Given the description of an element on the screen output the (x, y) to click on. 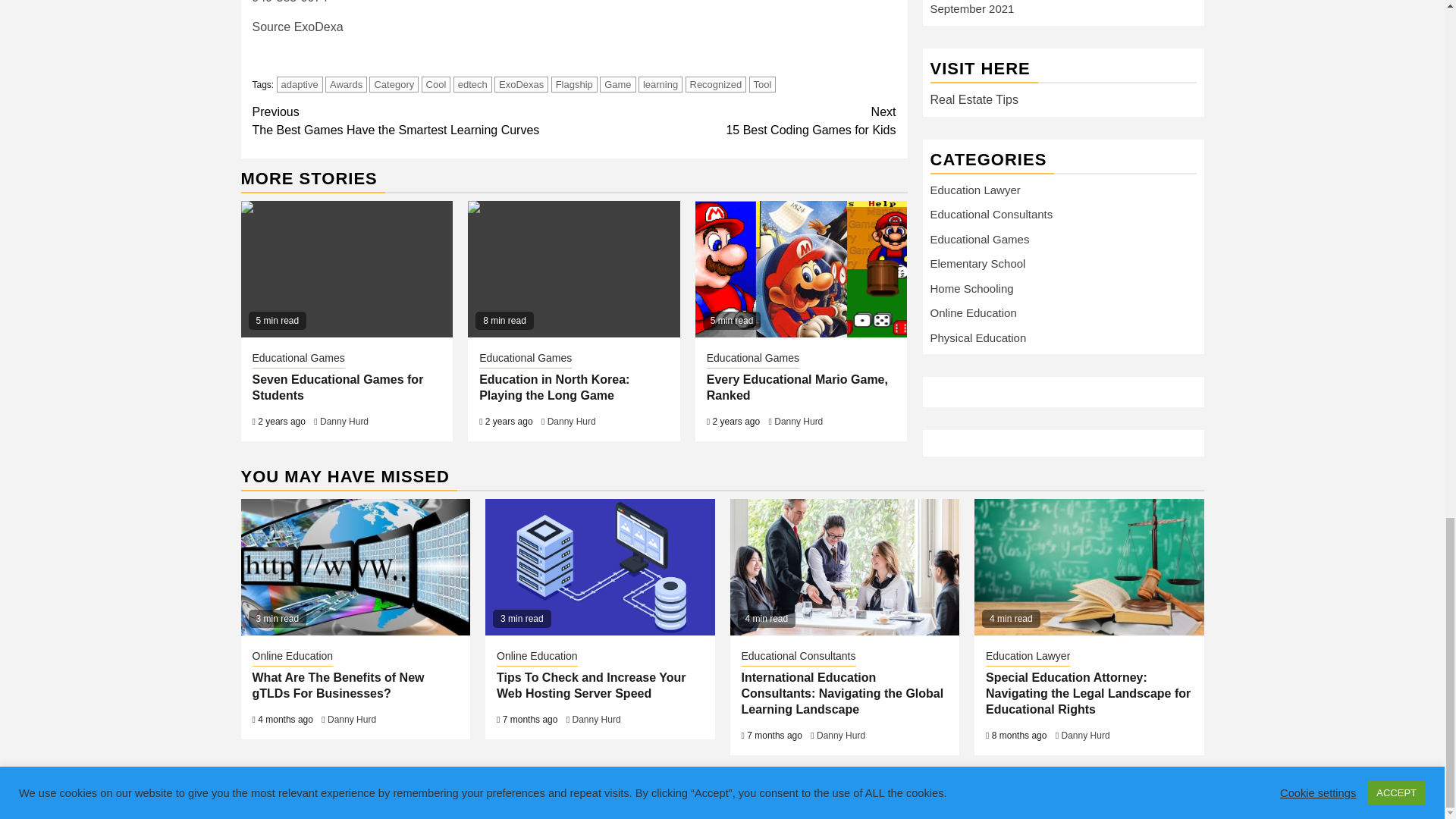
edtech (472, 84)
What Are The Benefits of New gTLDs For Businesses? (355, 566)
Cool (436, 84)
Seven Educational Games for Students (346, 268)
Education in North Korea: Playing the Long Game (573, 268)
Category (394, 84)
ExoDexas (521, 84)
Game (412, 121)
Tips To Check and Increase Your Web Hosting Server Speed (616, 84)
